Given the description of an element on the screen output the (x, y) to click on. 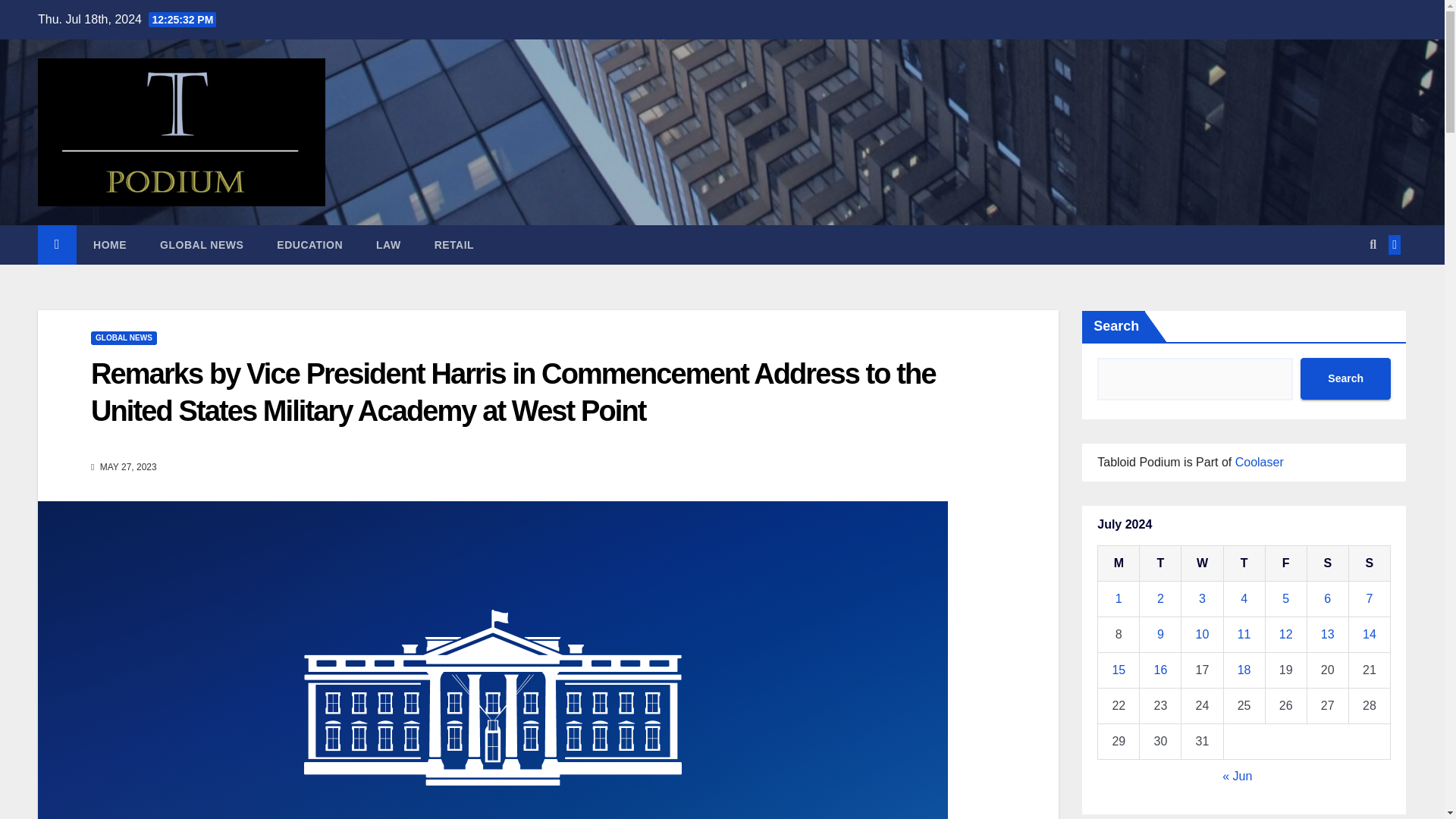
Home (109, 244)
Tuesday (1160, 562)
Coolaser (1259, 461)
Wednesday (1201, 562)
GLOBAL NEWS (123, 337)
GLOBAL NEWS (201, 244)
Monday (1118, 562)
Law (388, 244)
Global News (201, 244)
RETAIL (454, 244)
HOME (109, 244)
Education (309, 244)
Search (1345, 378)
